Given the description of an element on the screen output the (x, y) to click on. 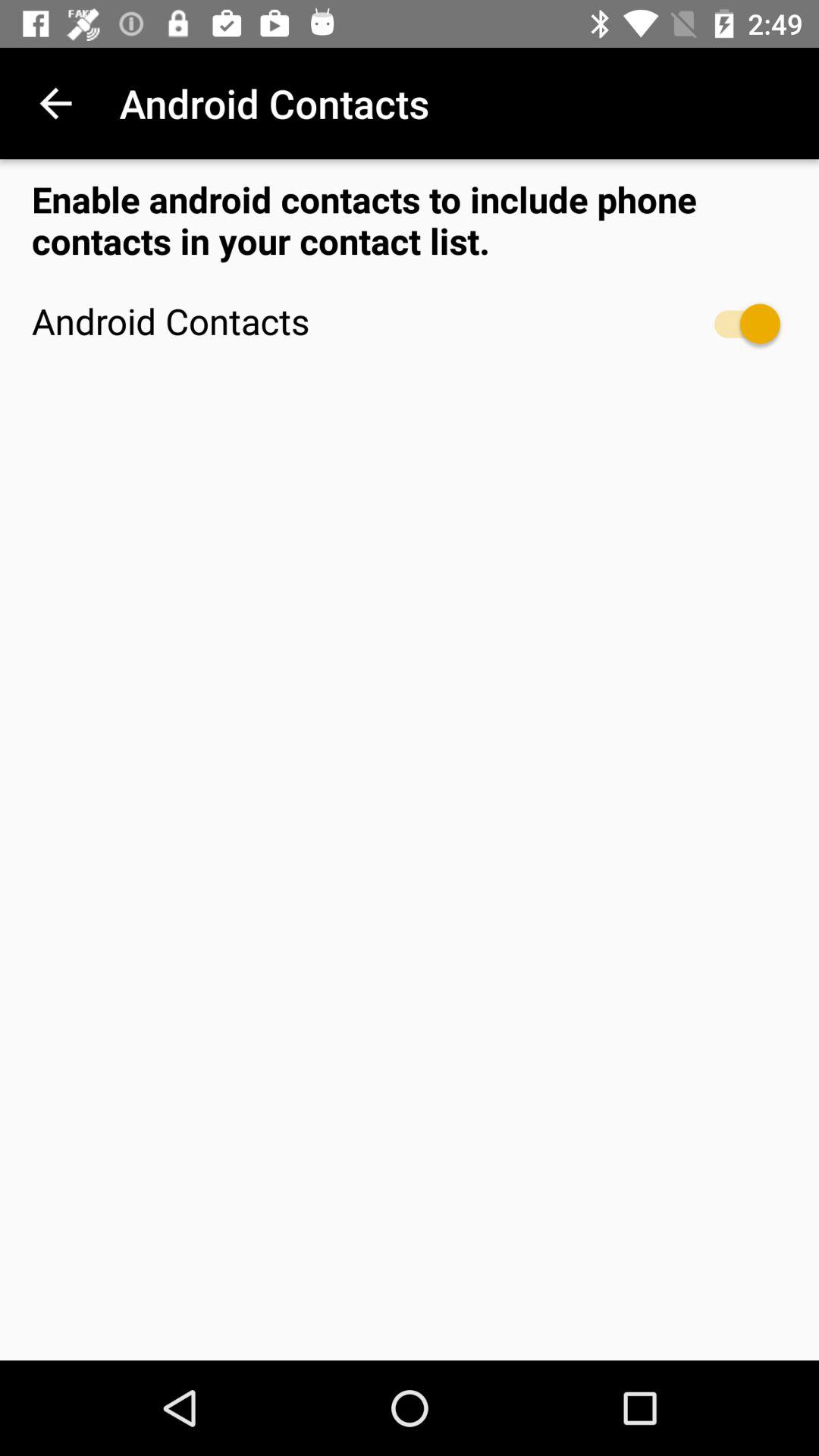
choose item below enable android contacts (739, 323)
